Given the description of an element on the screen output the (x, y) to click on. 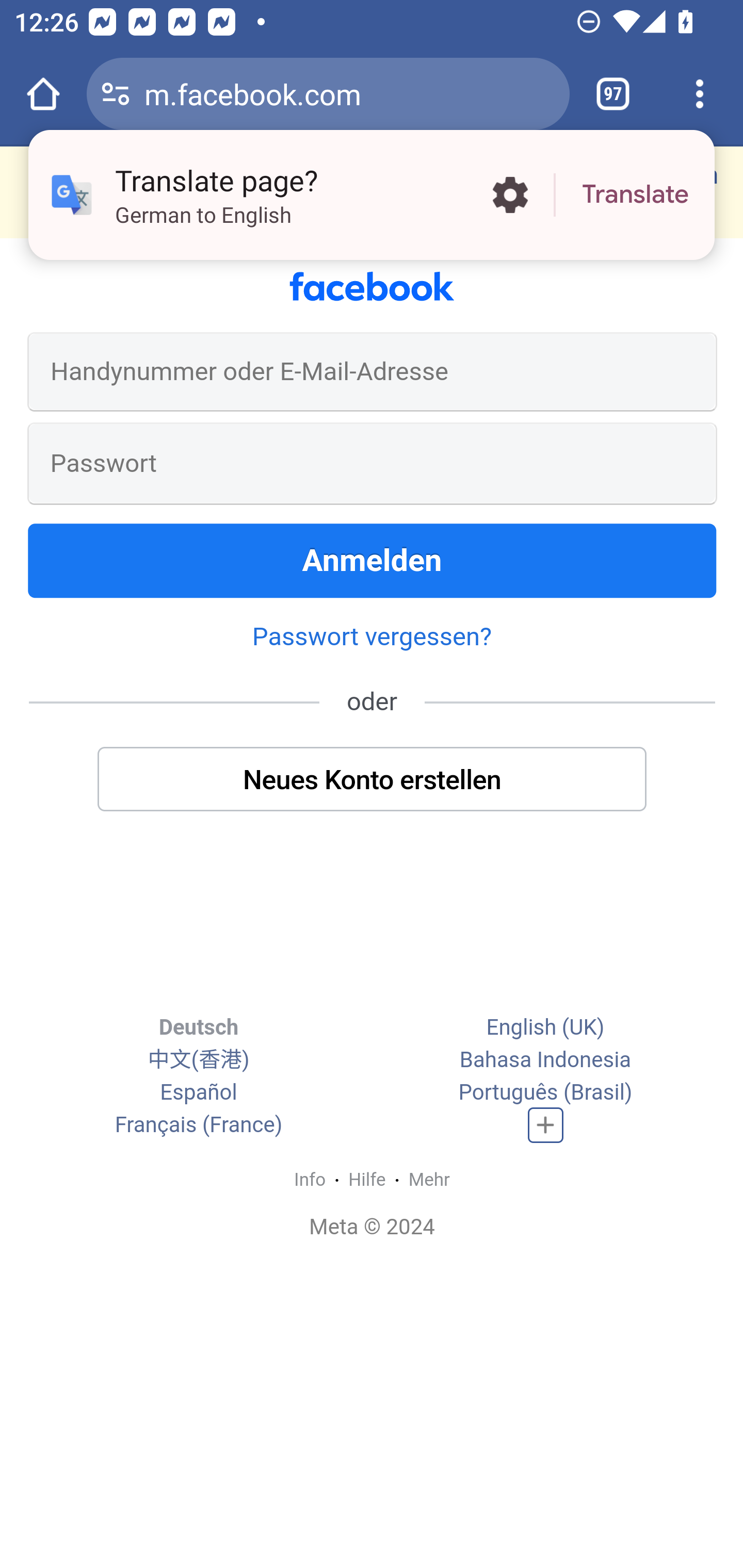
Open the home page (43, 93)
Connection is secure (115, 93)
Switch or close tabs (612, 93)
Customize and control Google Chrome (699, 93)
m.facebook.com (349, 92)
Translate (634, 195)
More options in the Translate page? (509, 195)
facebook (372, 286)
Anmelden (372, 560)
Passwort vergessen? (371, 635)
Neues Konto erstellen (372, 778)
English (UK) (544, 1027)
中文(香港) (198, 1060)
Bahasa Indonesia (545, 1060)
Español (198, 1092)
Português (Brasil) (544, 1092)
Vollständige Liste aller Sprachen (545, 1125)
Français (France) (198, 1124)
Info (309, 1179)
Hilfe (365, 1179)
